Given the description of an element on the screen output the (x, y) to click on. 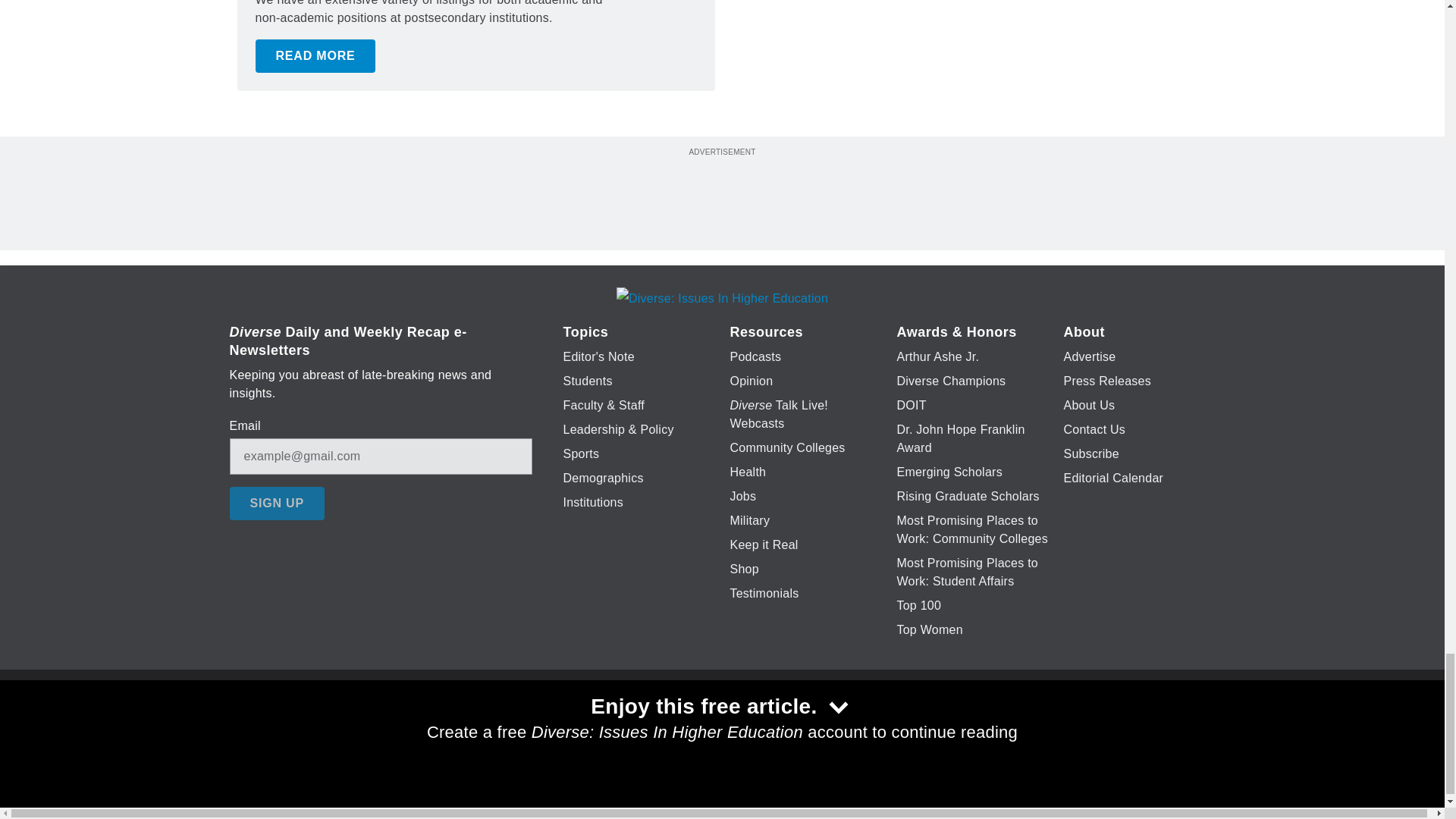
LinkedIn icon (718, 727)
Twitter X icon (674, 727)
Facebook icon (635, 727)
YouTube icon (757, 727)
Instagram icon (796, 727)
